Given the description of an element on the screen output the (x, y) to click on. 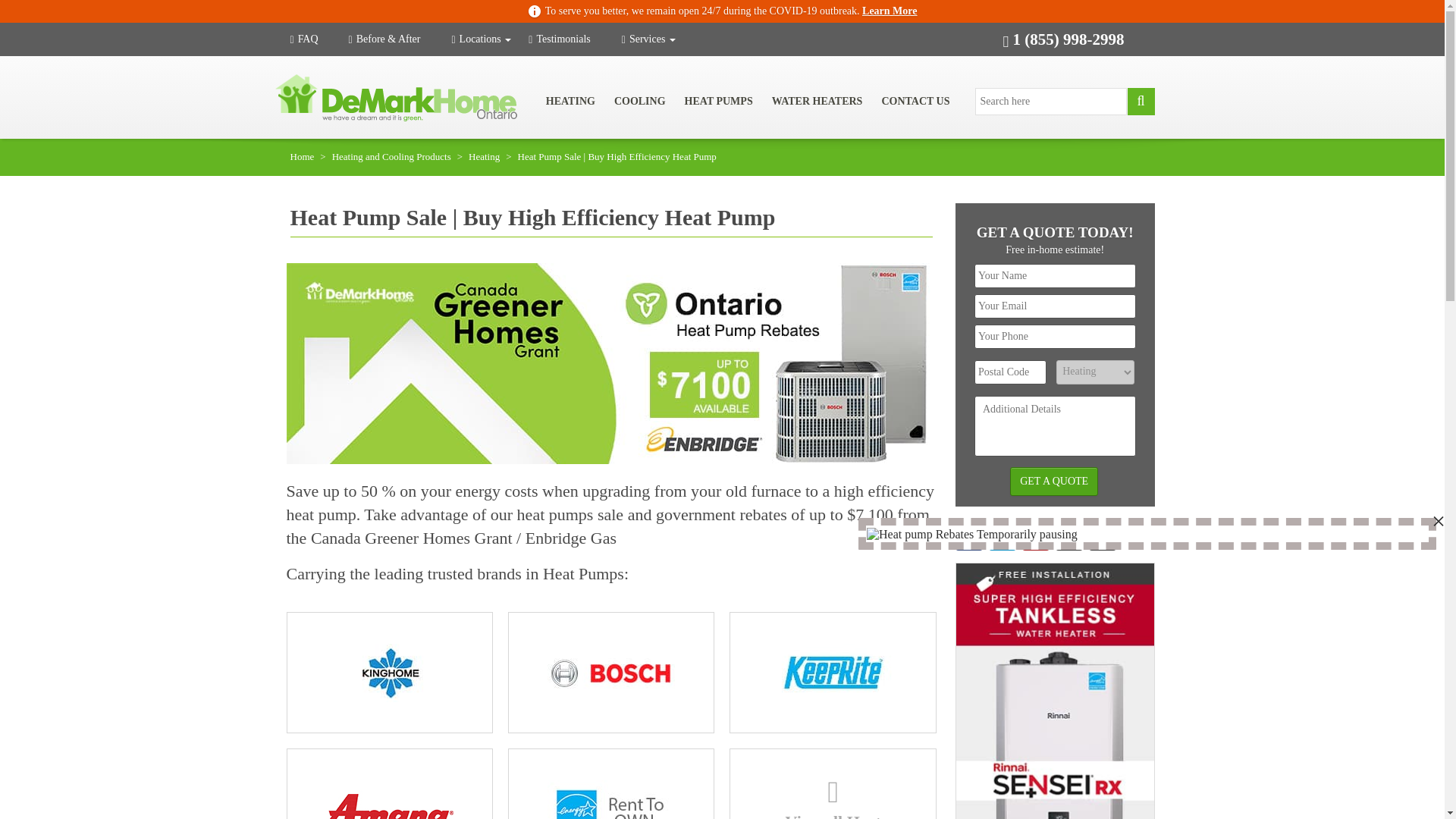
FAQ (318, 38)
Locations (480, 38)
Testimonials (574, 38)
Locations (480, 38)
Get A Quote (1053, 481)
Services (648, 38)
FAQ (318, 38)
Learn More (889, 10)
